Given the description of an element on the screen output the (x, y) to click on. 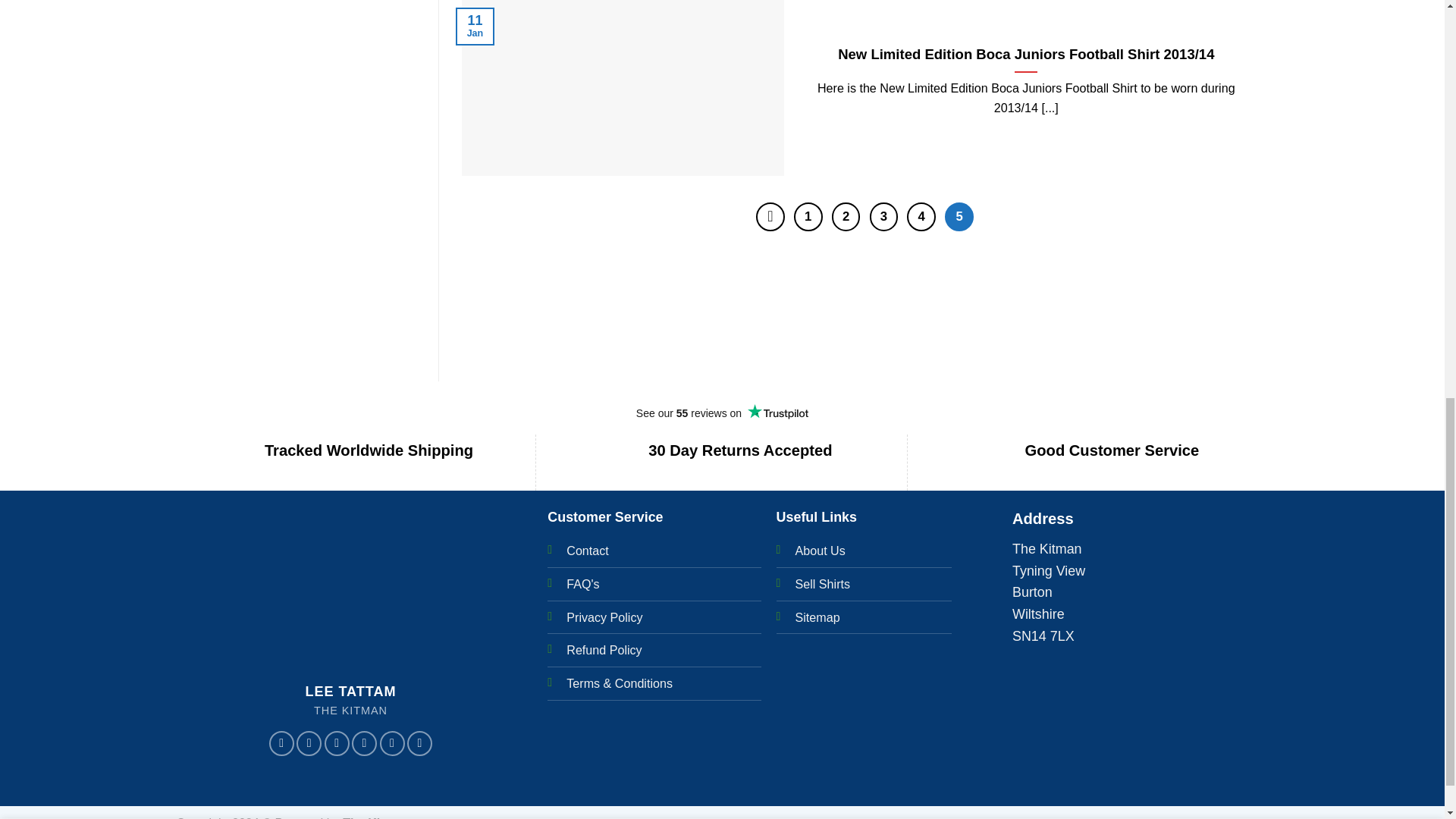
Follow on Instagram (309, 743)
Send us an email (364, 743)
Follow on LinkedIn (419, 743)
Call us (391, 743)
Follow on Twitter (336, 743)
Follow on Facebook (281, 743)
